Given the description of an element on the screen output the (x, y) to click on. 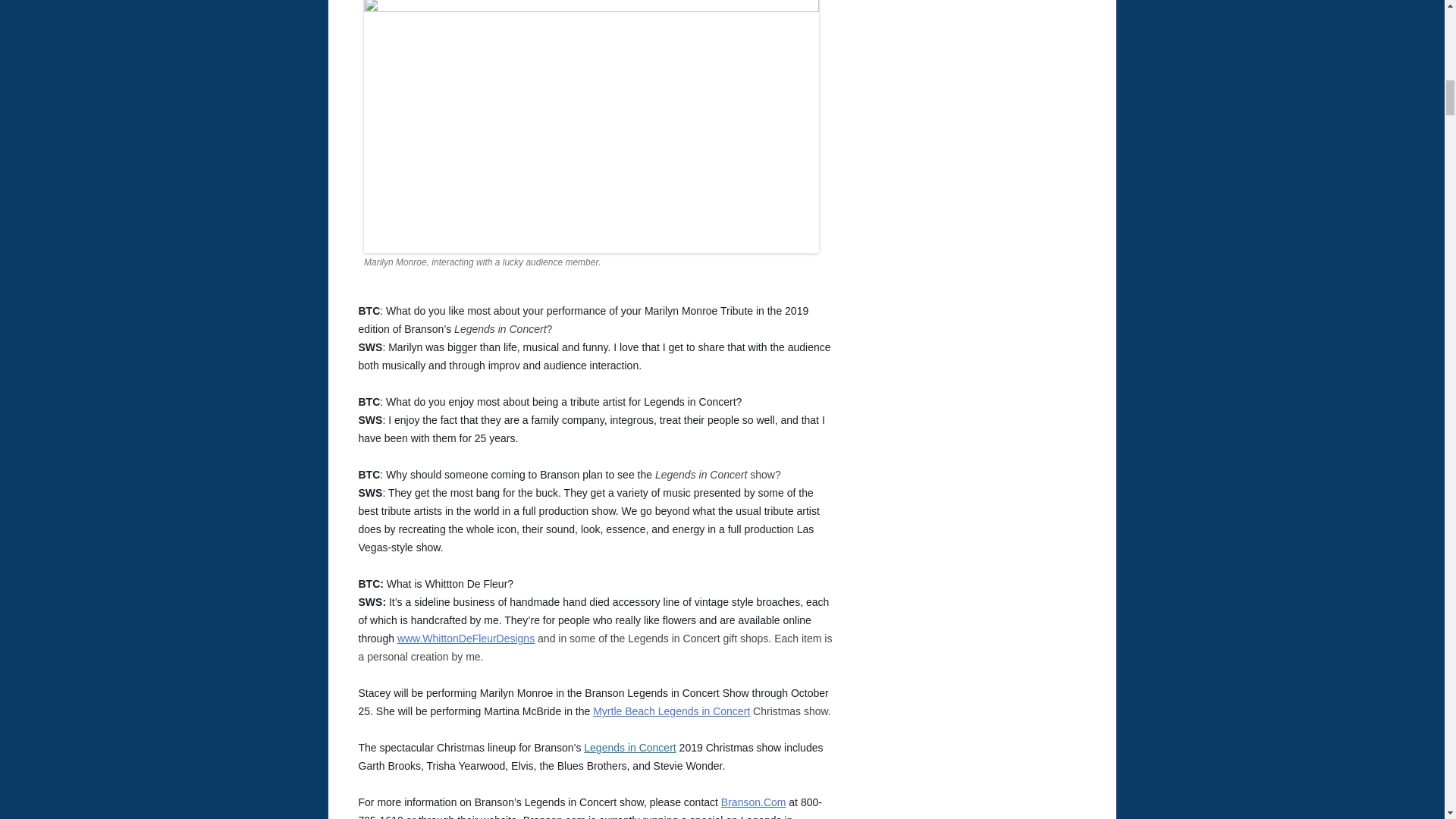
Myrtle Beach Legends in Concert (670, 711)
www.WhittonDeFleurDesigns (465, 638)
Branson.Com (753, 802)
Legends in Concert (629, 747)
